Given the description of an element on the screen output the (x, y) to click on. 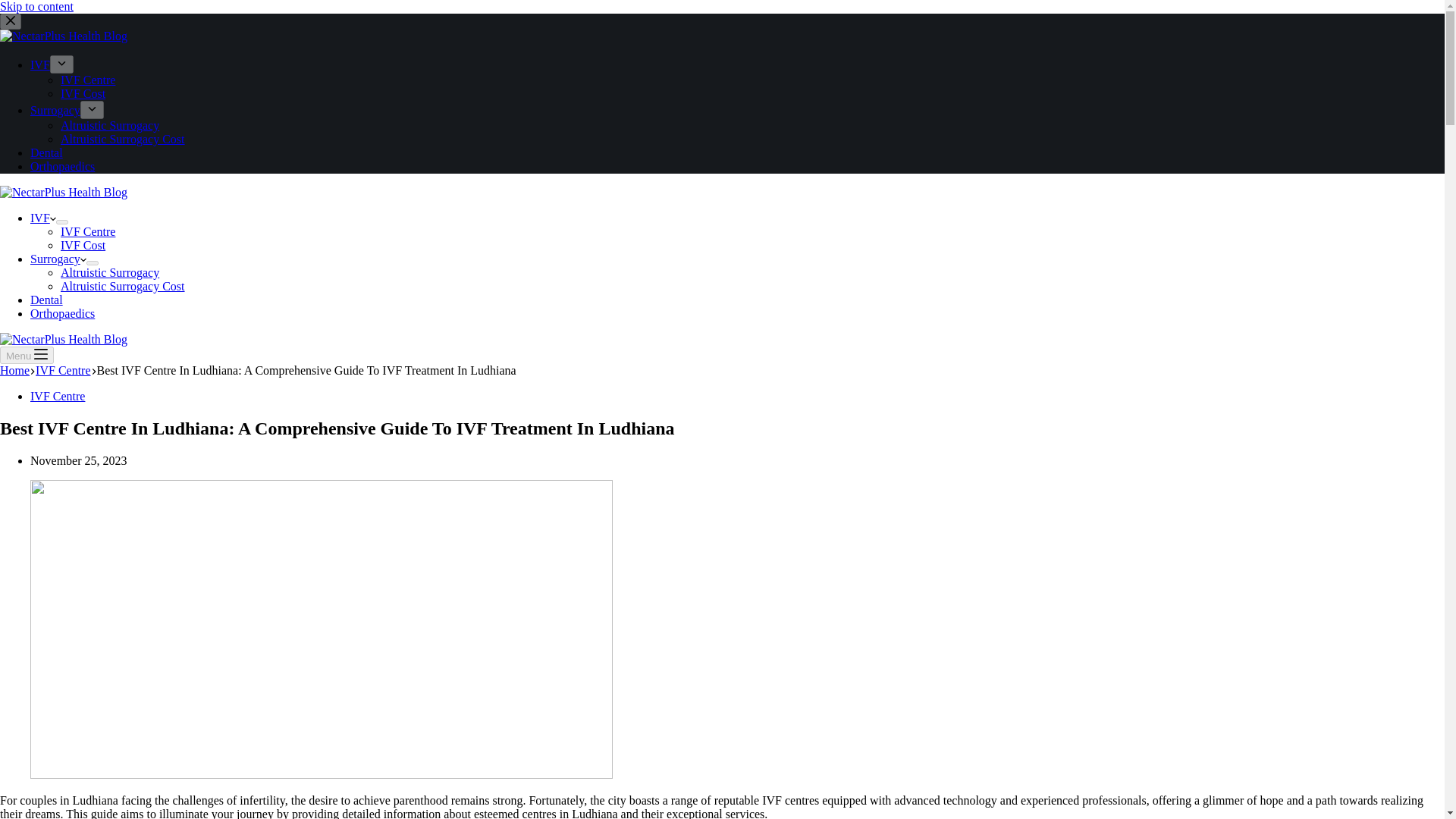
IVF Centre (88, 231)
Altruistic Surrogacy Cost (122, 138)
Surrogacy (57, 258)
Dental (46, 299)
Skip to content (37, 6)
IVF Cost (82, 245)
Surrogacy (55, 110)
Altruistic Surrogacy (109, 272)
IVF (43, 217)
Home (14, 369)
Menu (26, 354)
IVF Centre (62, 369)
Orthopaedics (62, 313)
Dental (46, 152)
IVF (39, 64)
